Given the description of an element on the screen output the (x, y) to click on. 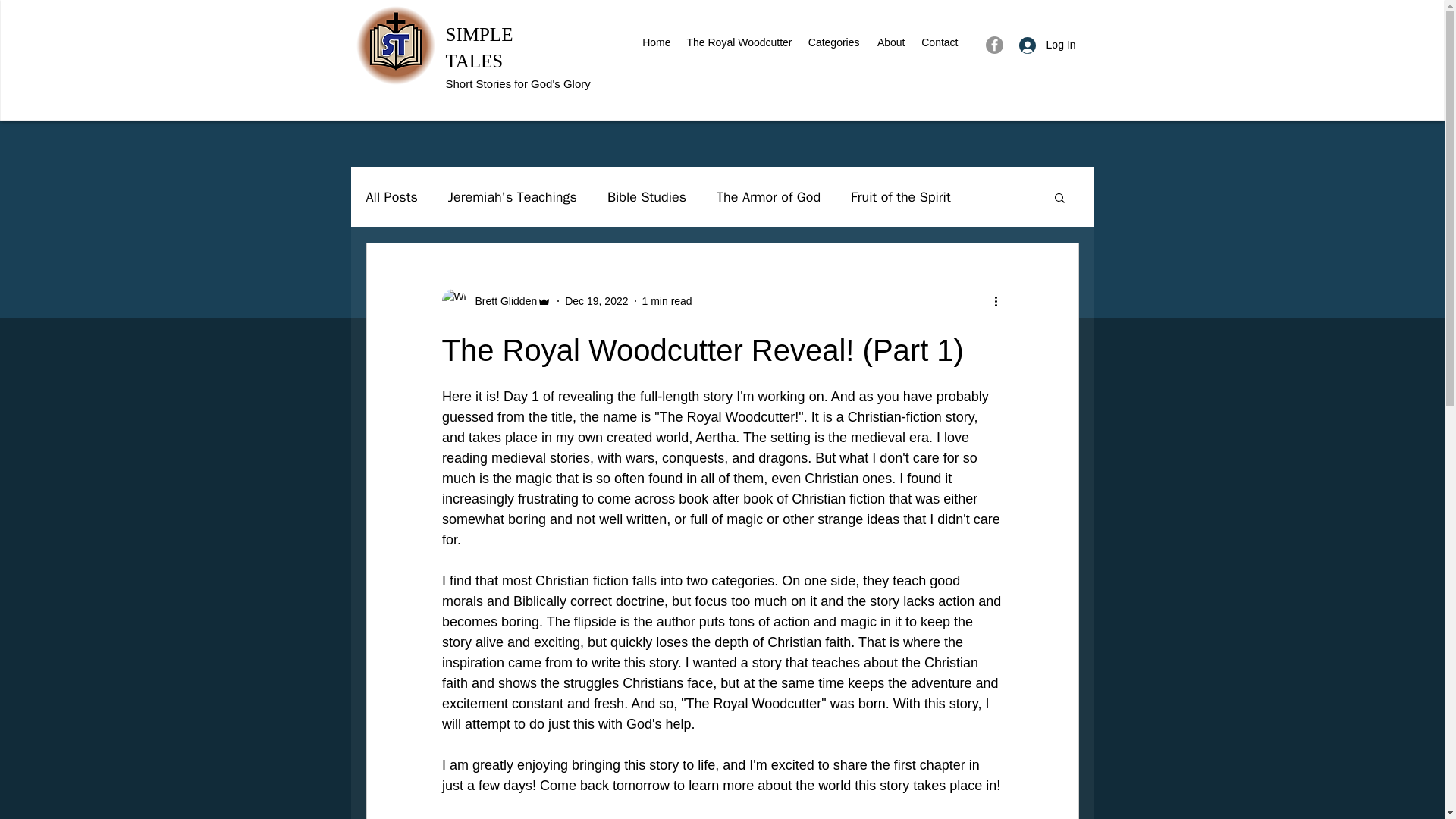
The Royal Woodcutter (738, 42)
Home (655, 42)
Brett Glidden (501, 301)
Log In (1047, 44)
The Armor of God (768, 197)
1 min read (667, 300)
Jeremiah's Teachings (512, 197)
All Posts (390, 197)
Brett Glidden (496, 300)
About (889, 42)
